Given the description of an element on the screen output the (x, y) to click on. 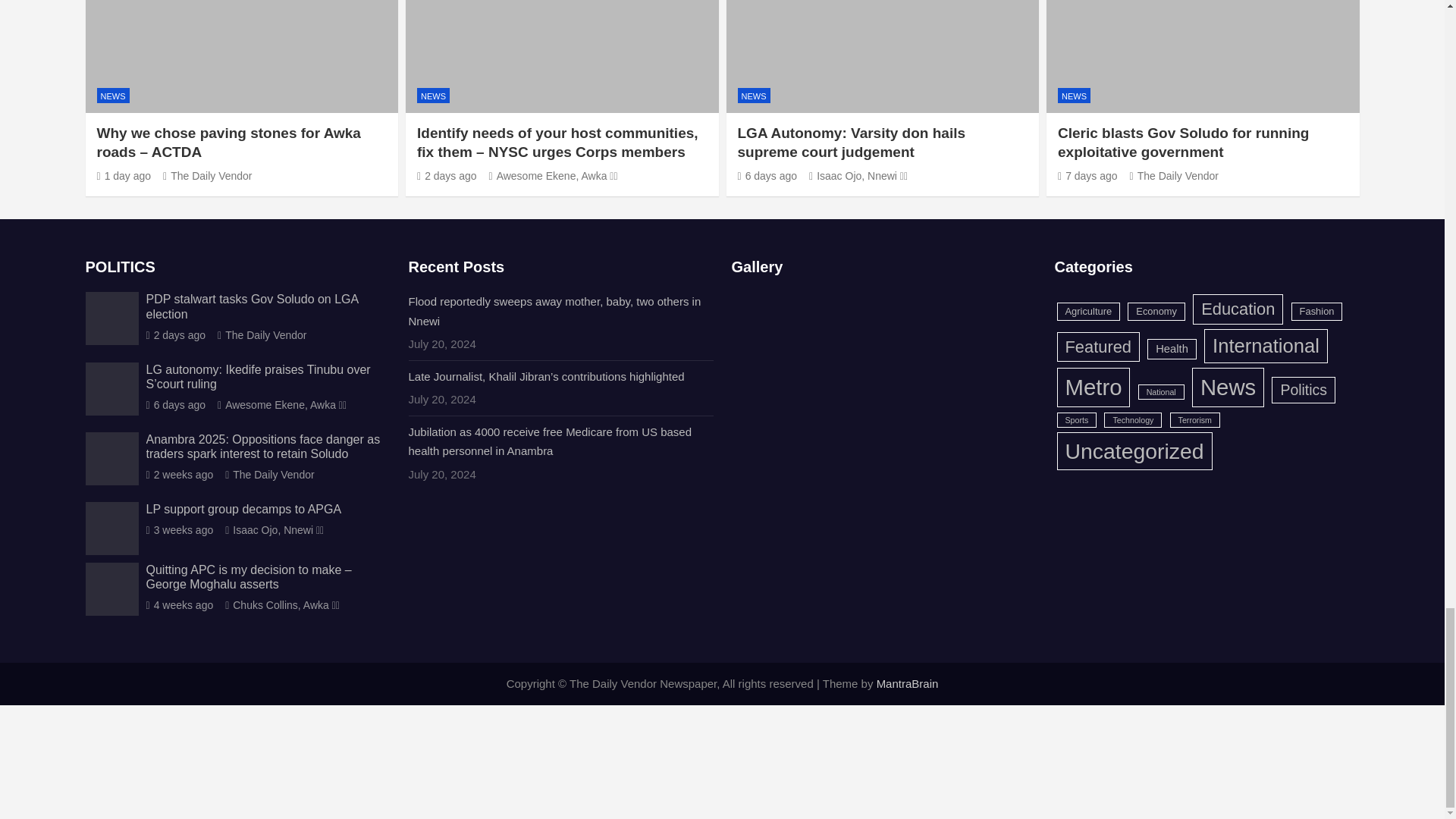
LGA Autonomy: Varsity don hails supreme court judgement (766, 175)
Cleric blasts Gov Soludo for running exploitative government (1088, 175)
PDP stalwart tasks Gov Soludo on LGA election (175, 335)
